Given the description of an element on the screen output the (x, y) to click on. 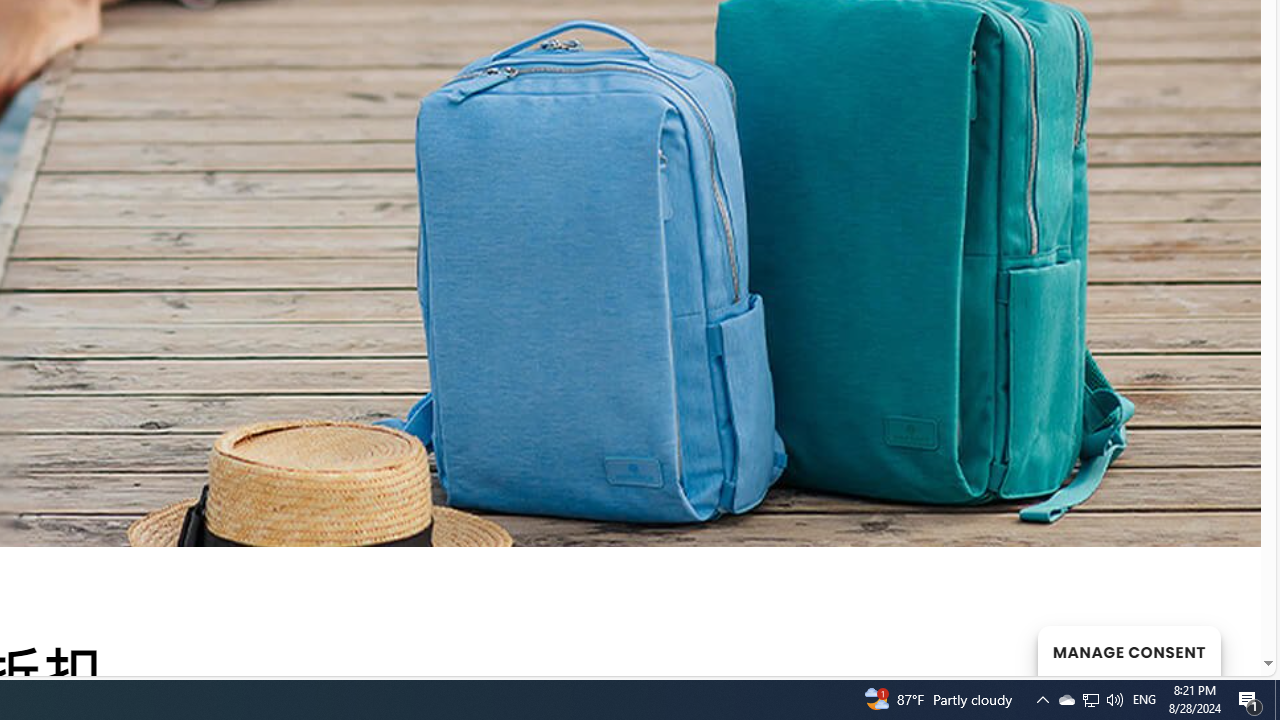
MANAGE CONSENT (1128, 650)
